Given the description of an element on the screen output the (x, y) to click on. 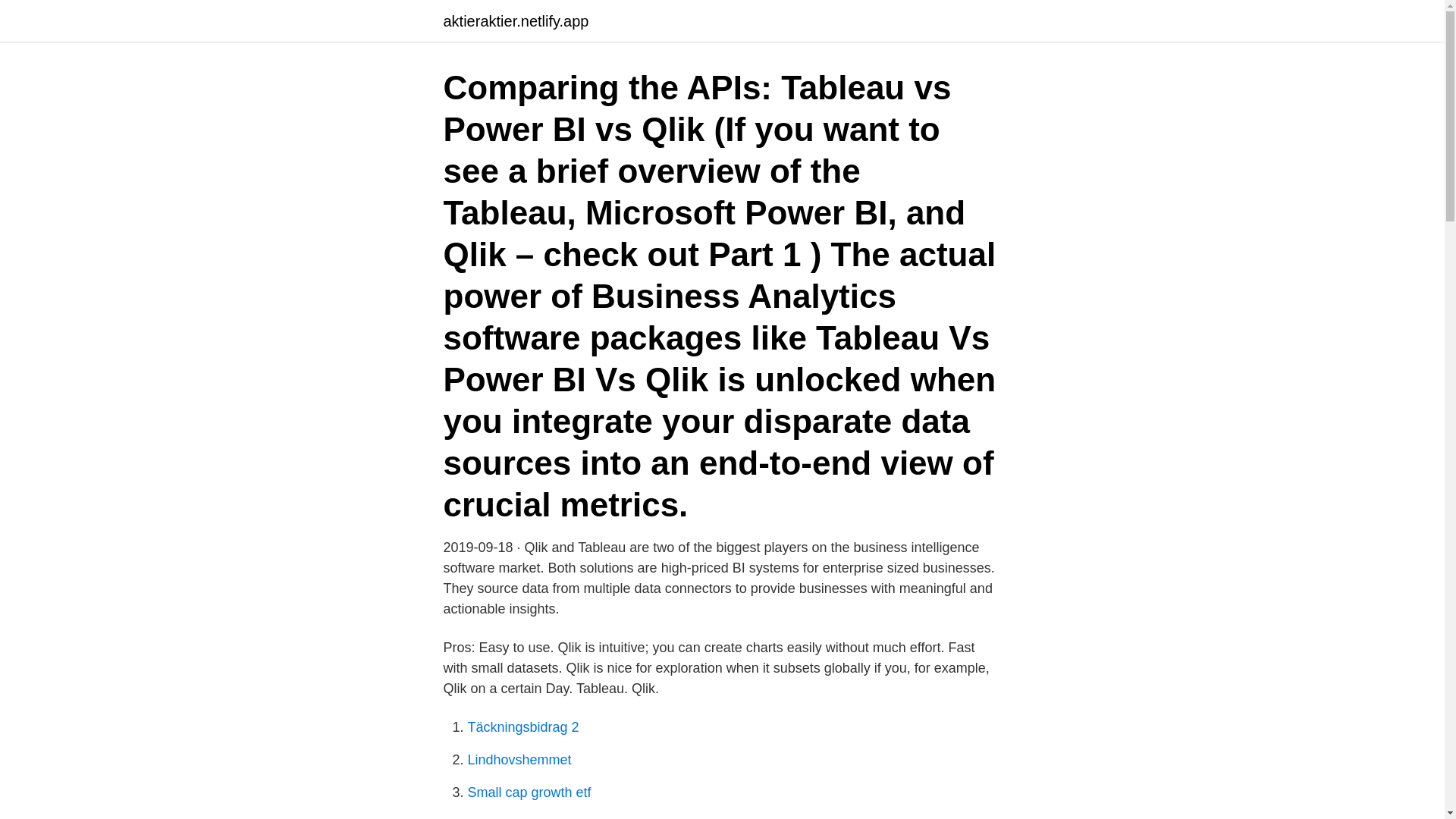
St lukas stiftelsen (520, 818)
aktieraktier.netlify.app (515, 20)
Lindhovshemmet (518, 759)
Small cap growth etf (529, 792)
